Given the description of an element on the screen output the (x, y) to click on. 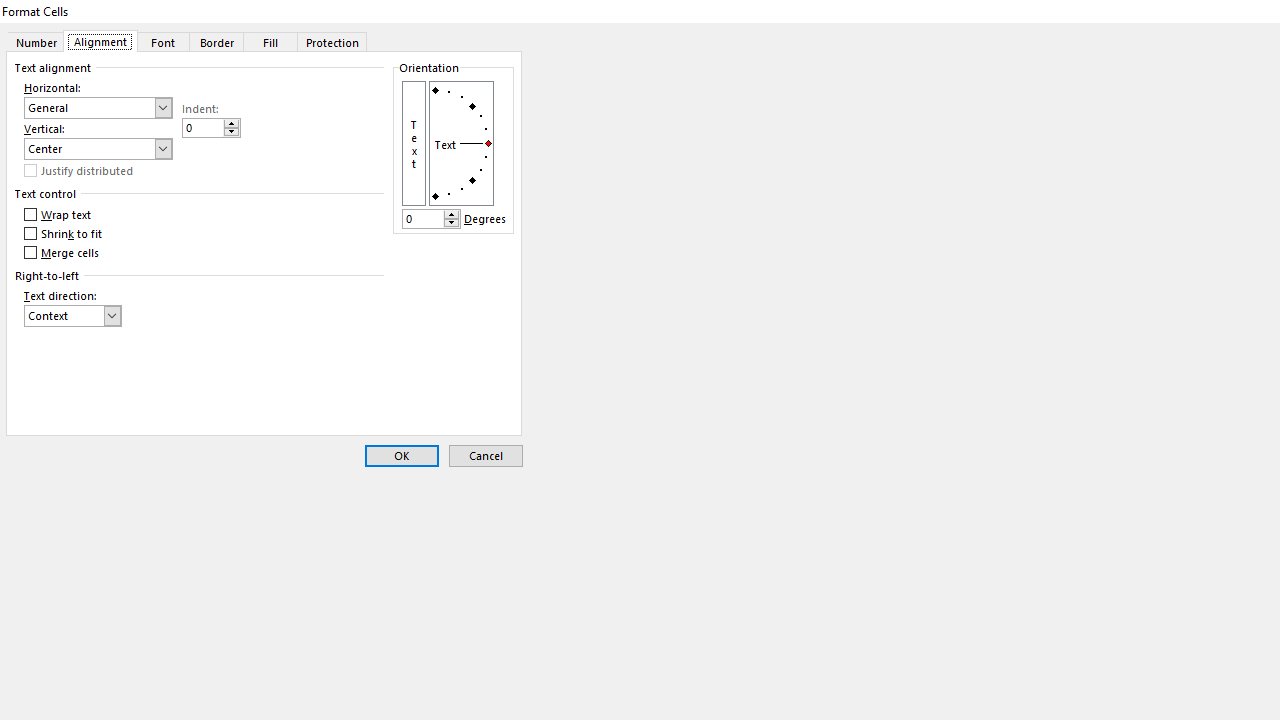
Merge cells (63, 252)
Border (216, 41)
Text direction: (72, 315)
Indent: (210, 128)
Justify distributed (79, 170)
Degrees (430, 218)
Vertical: (98, 148)
Shrink to fit (64, 233)
OK (401, 456)
Protection (333, 41)
Alignment (100, 41)
Horizontal: (98, 107)
Font (162, 41)
Wrap text (58, 215)
Fill (271, 41)
